Given the description of an element on the screen output the (x, y) to click on. 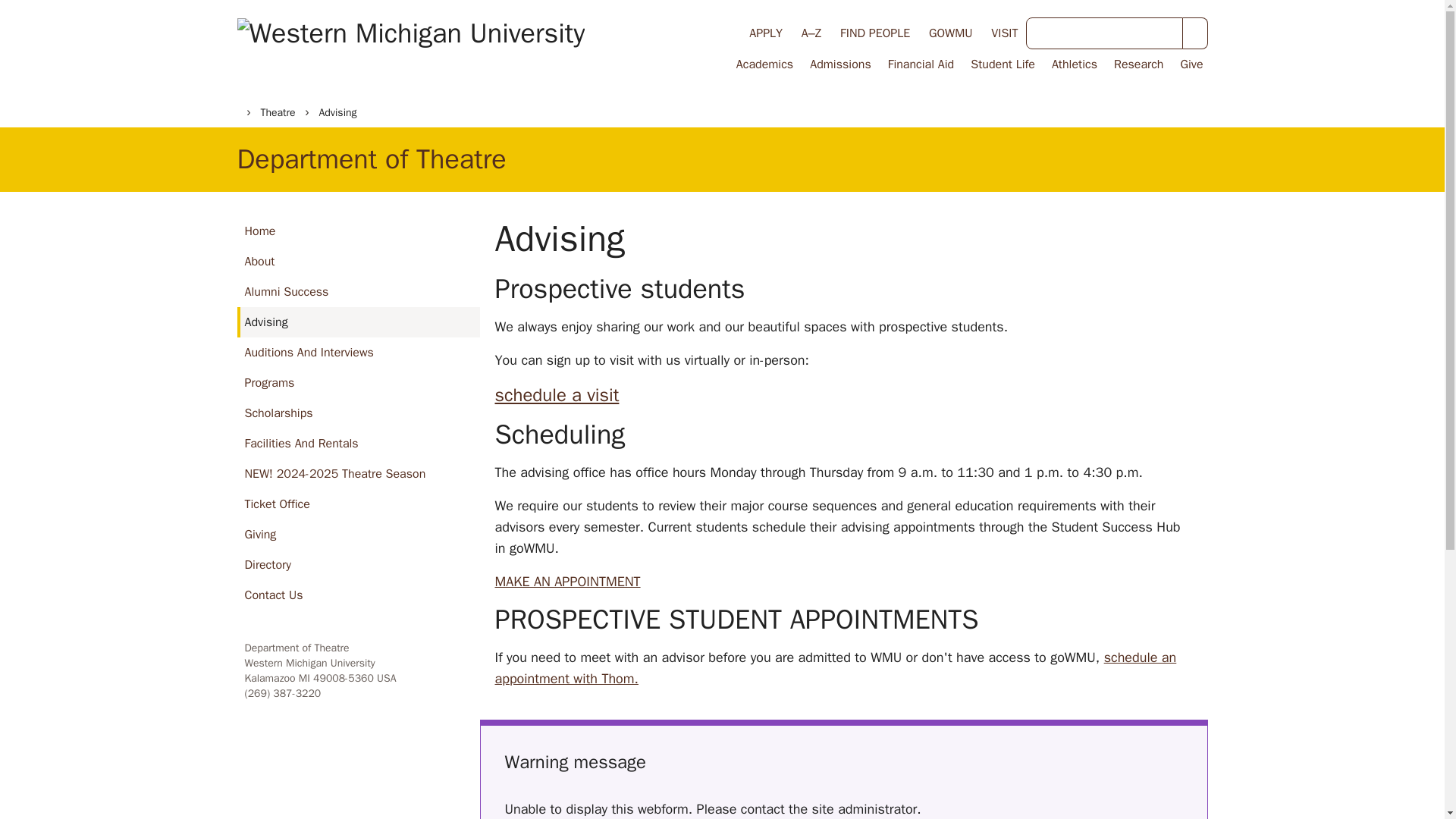
Back to Western Michigan University home page (410, 48)
Give (1189, 64)
APPLY (766, 33)
Athletics (1072, 64)
FIND PEOPLE (875, 33)
Academics (763, 64)
GOWMU (950, 33)
Student Life (1000, 64)
Admissions (839, 64)
